Given the description of an element on the screen output the (x, y) to click on. 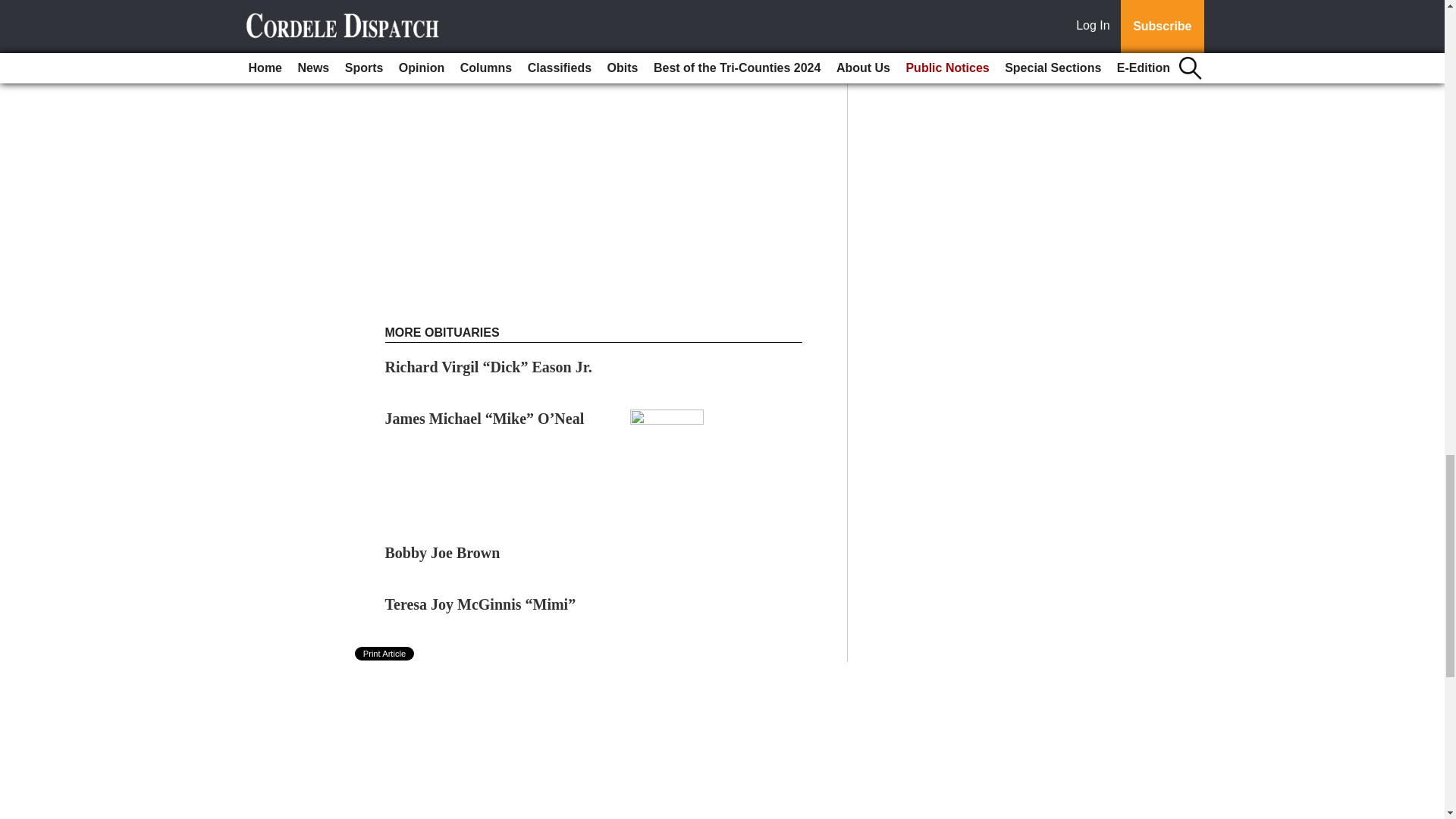
Print Article (384, 653)
Bobby Joe Brown (442, 552)
Bobby Joe Brown (442, 552)
